Given the description of an element on the screen output the (x, y) to click on. 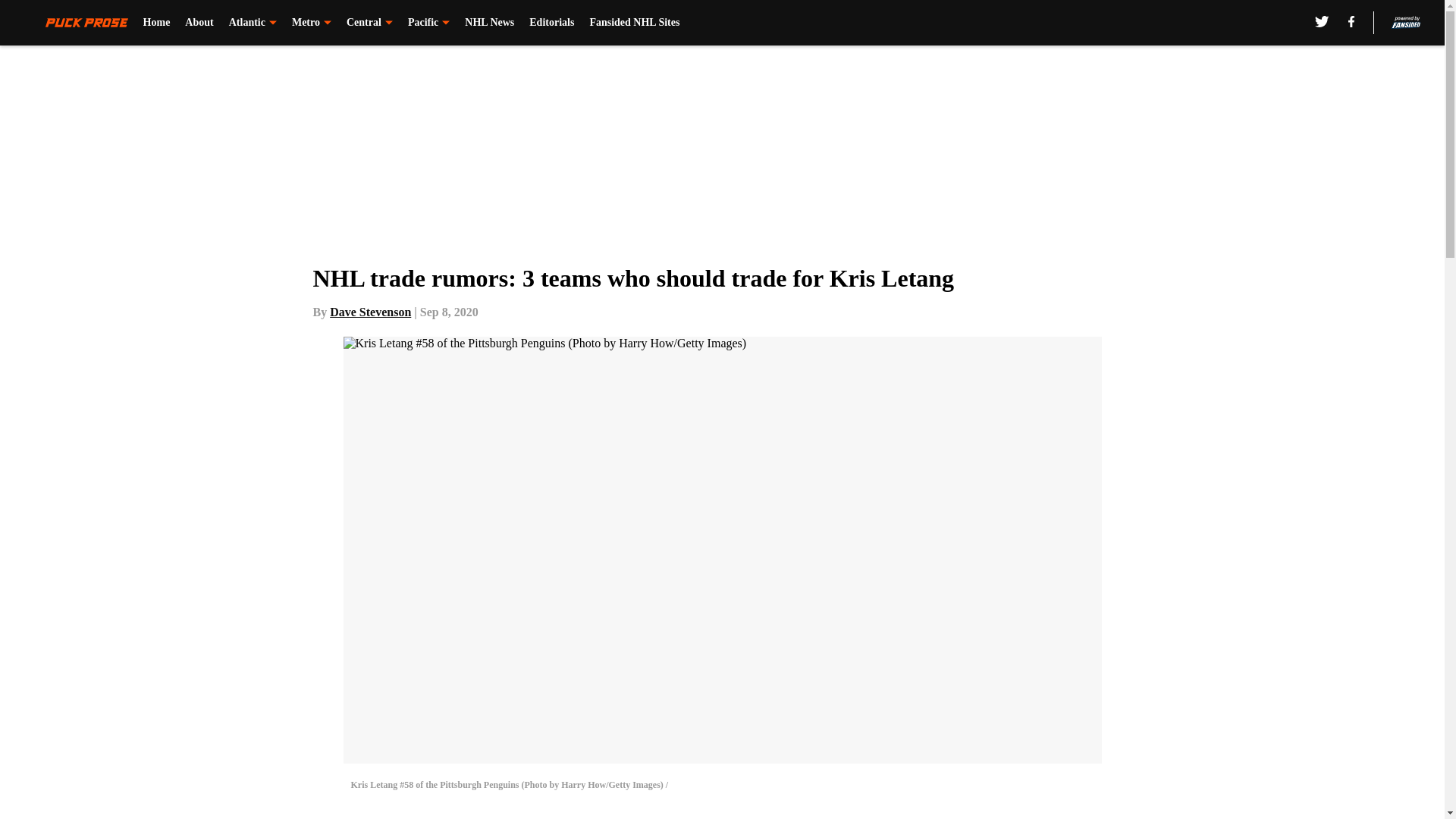
NHL News (488, 22)
About (198, 22)
Home (156, 22)
